Given the description of an element on the screen output the (x, y) to click on. 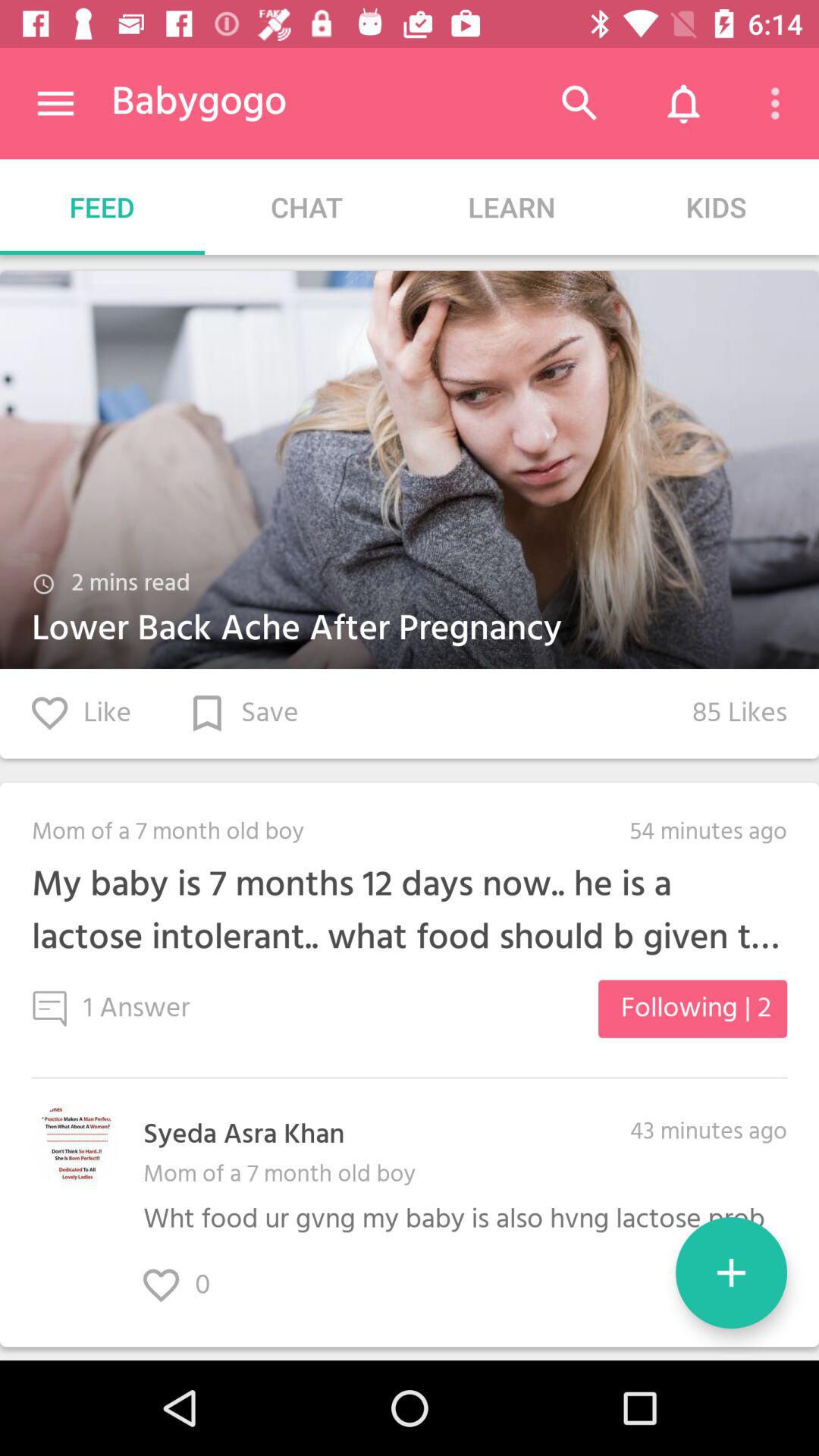
launch 0 icon (192, 1285)
